Given the description of an element on the screen output the (x, y) to click on. 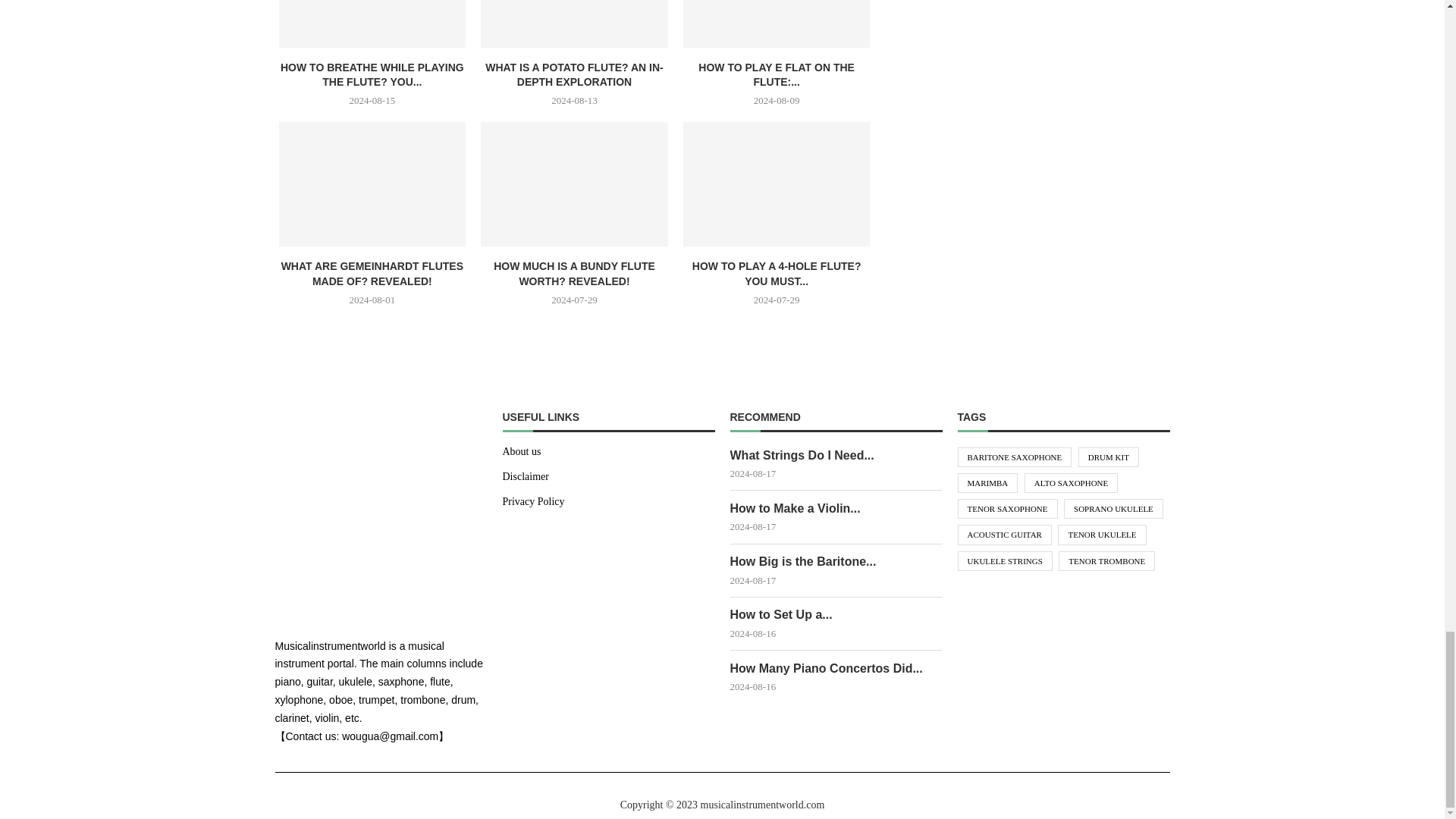
How to Play a 4-Hole Flute? You Must Know (776, 184)
How Much Is a Bundy Flute Worth? Revealed! (574, 184)
What Are Gemeinhardt Flutes Made Of? Revealed! (372, 184)
How to Breathe While Playing the Flute? You Must Know (372, 23)
How to Play E Flat on the Flute: A Step-by-Step Instructions (776, 23)
What is a Potato Flute? An In-Depth Exploration (574, 23)
